Given the description of an element on the screen output the (x, y) to click on. 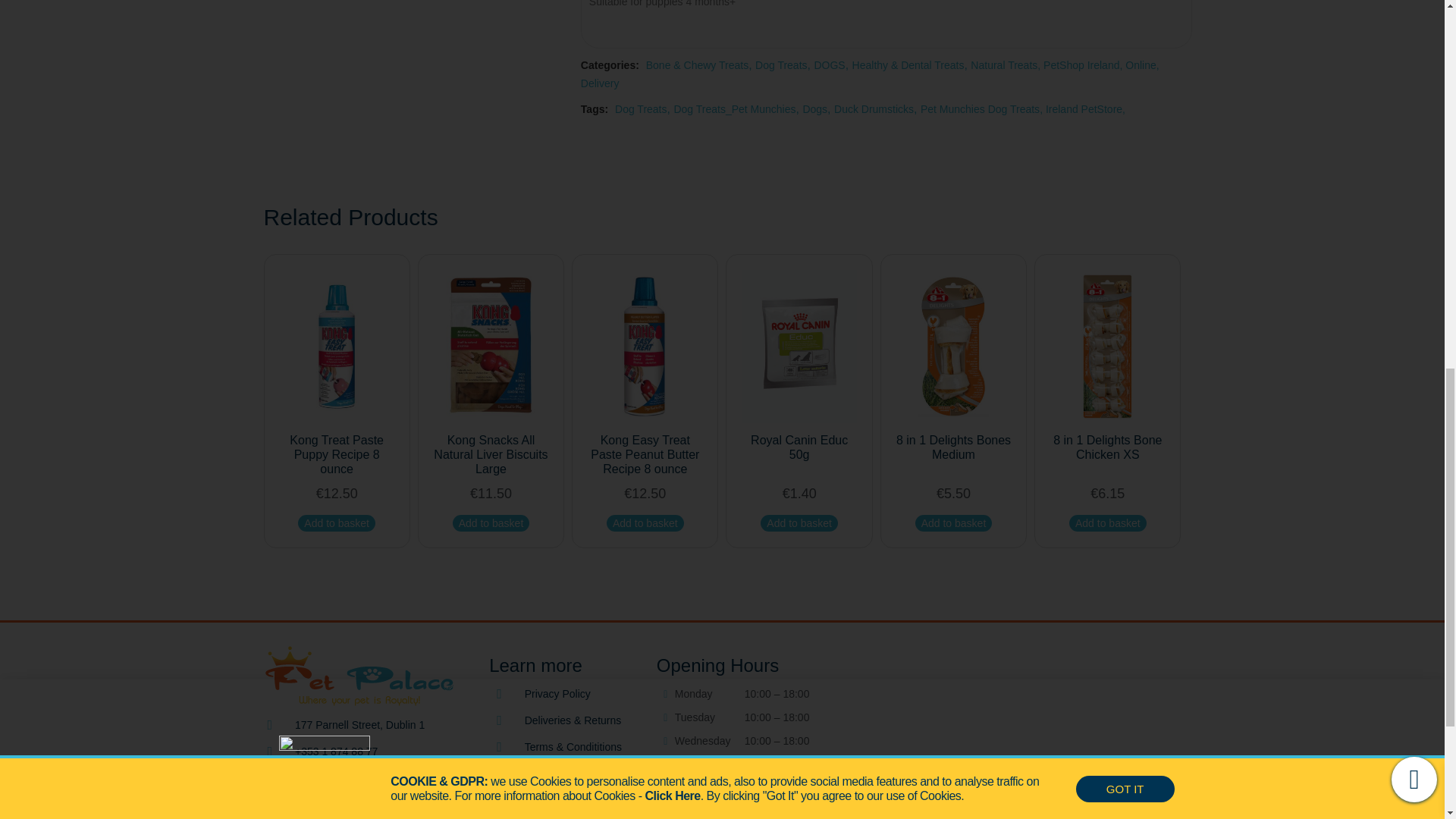
Pet Palace, 177 Parnell Street, Rotunda, Dublin 1 (1026, 739)
